Given the description of an element on the screen output the (x, y) to click on. 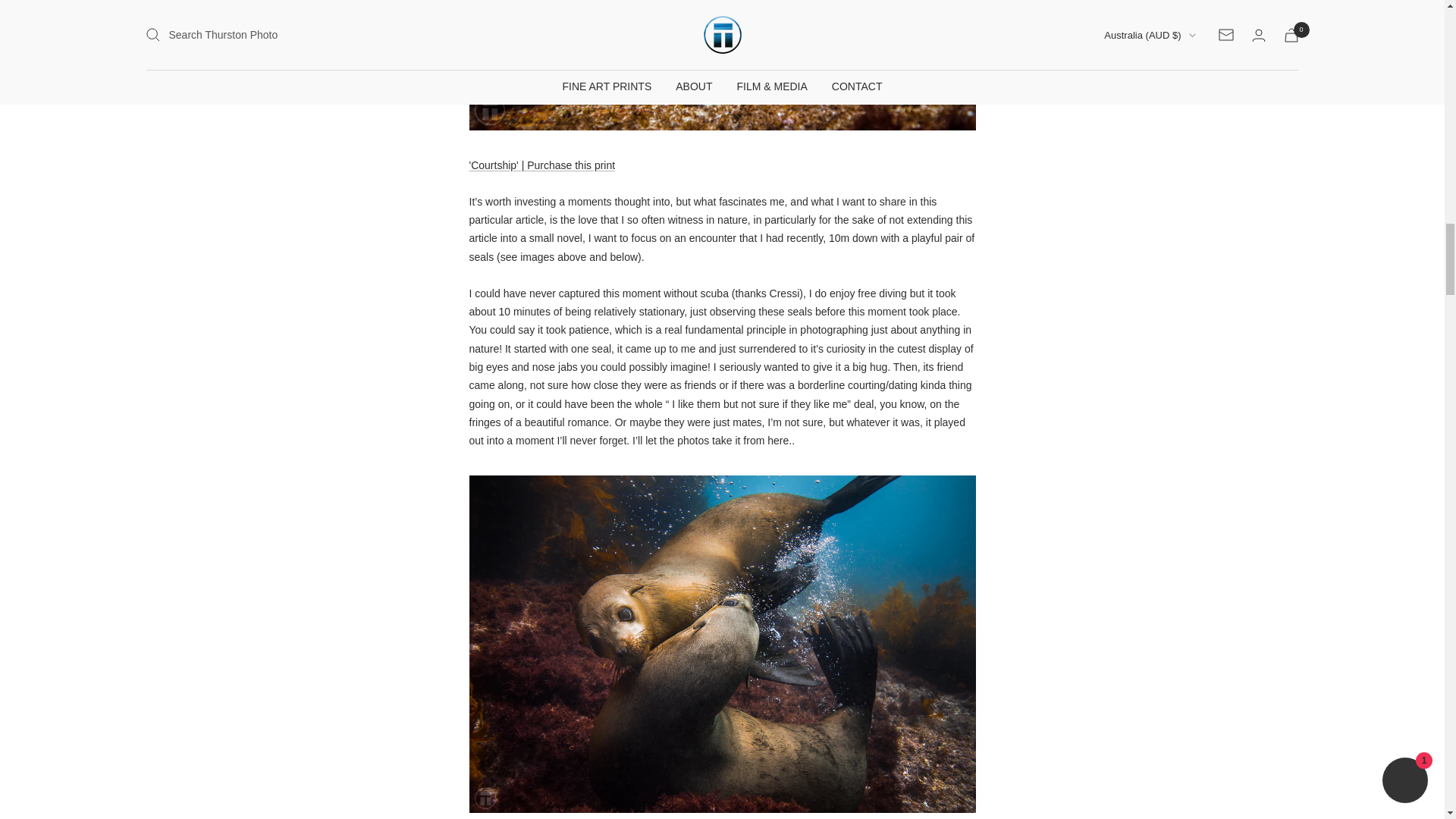
Purchase print of 'Courtship' (541, 164)
